Given the description of an element on the screen output the (x, y) to click on. 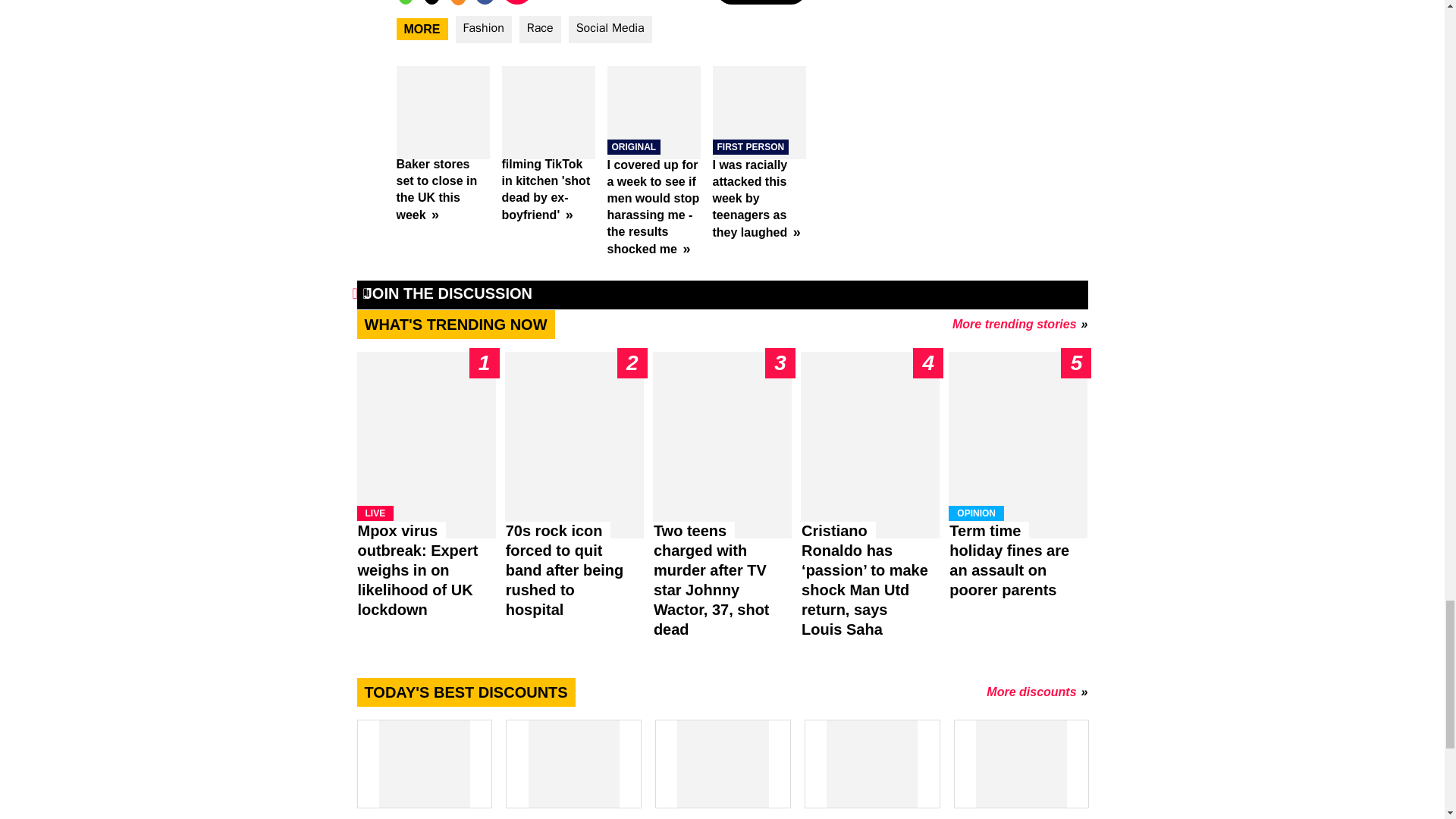
Wickes (872, 769)
Boden (722, 769)
Travelodge (423, 769)
Debenhams (572, 769)
